Given the description of an element on the screen output the (x, y) to click on. 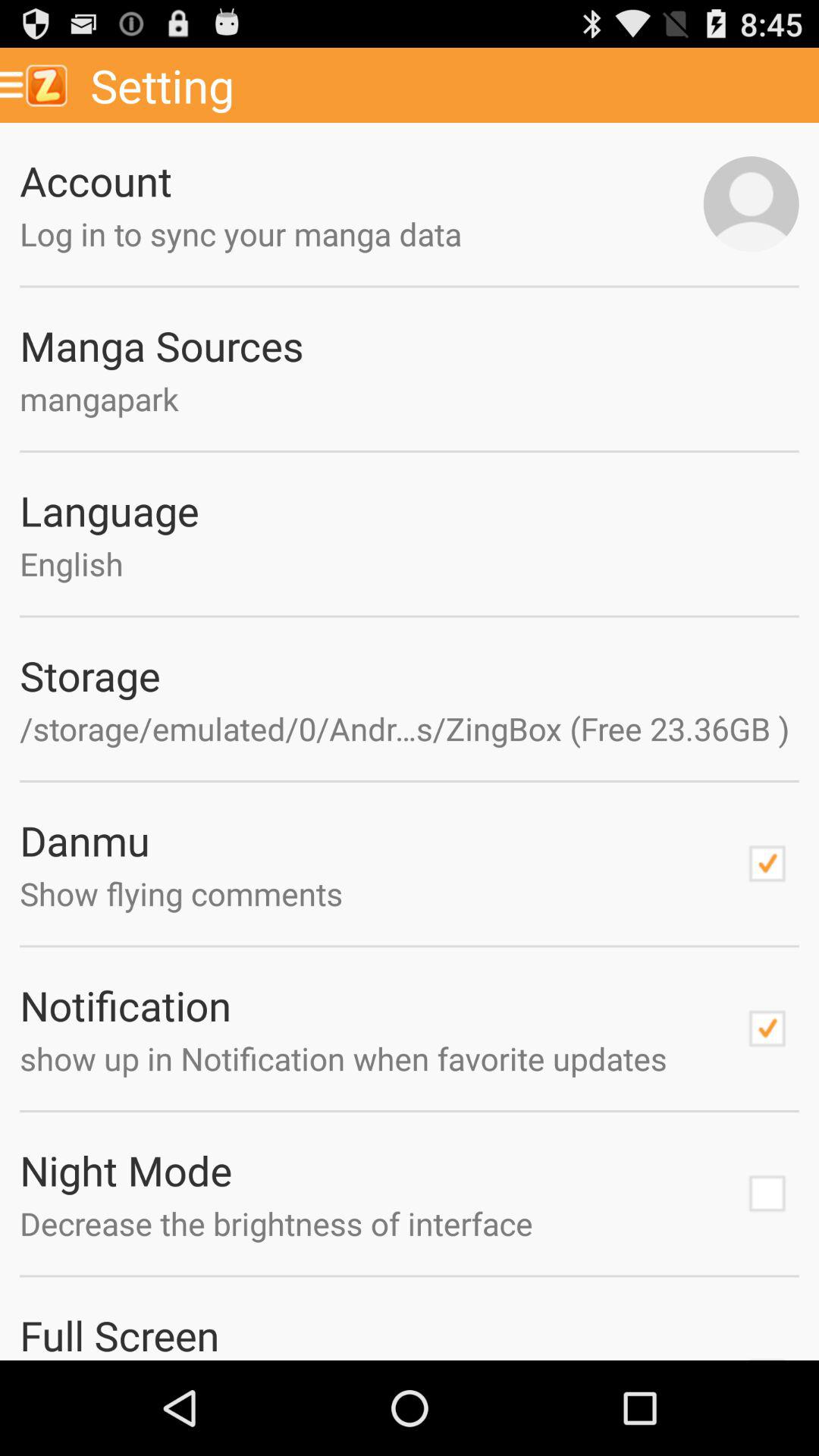
press the icon below manga sources app (409, 398)
